Given the description of an element on the screen output the (x, y) to click on. 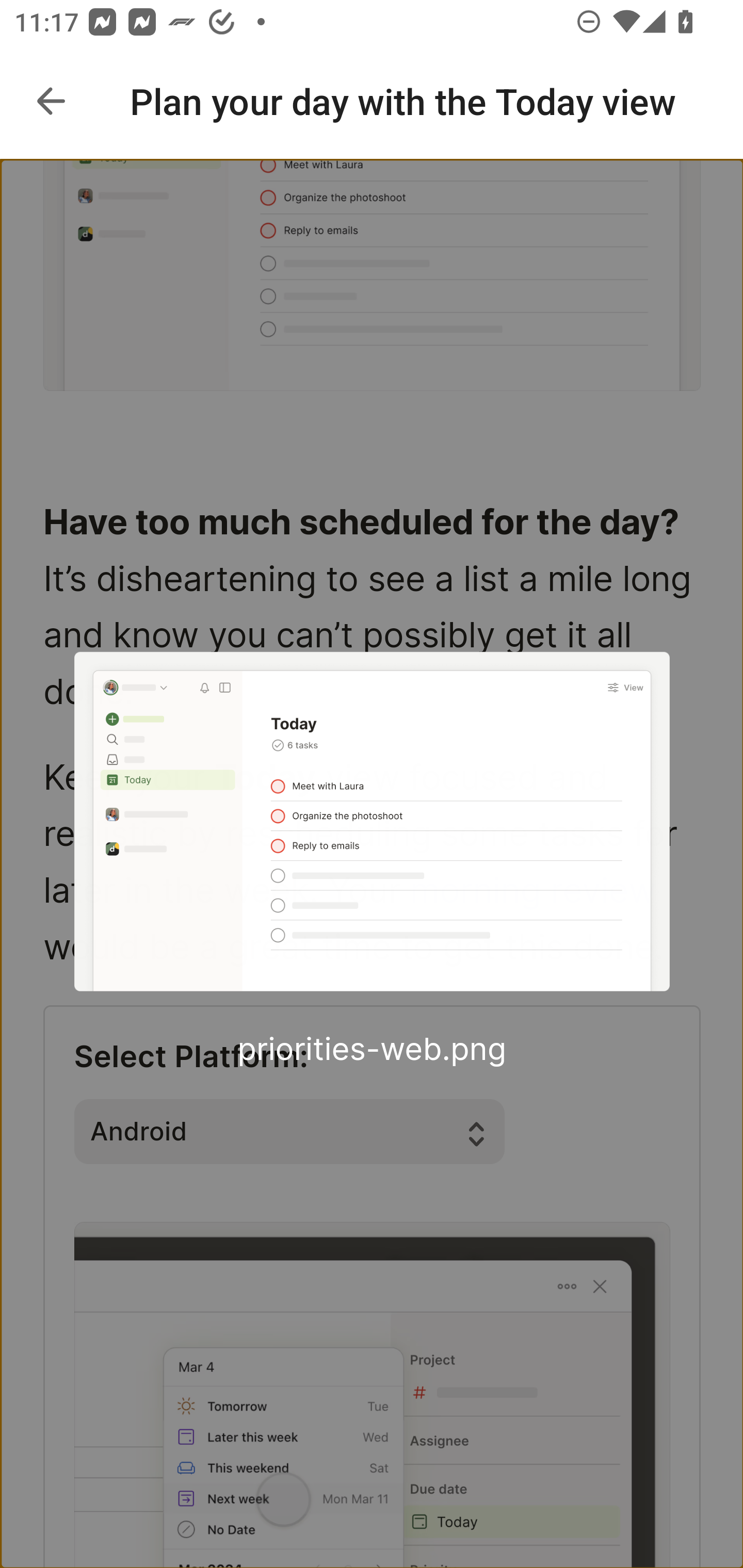
Navigate up (50, 101)
